Given the description of an element on the screen output the (x, y) to click on. 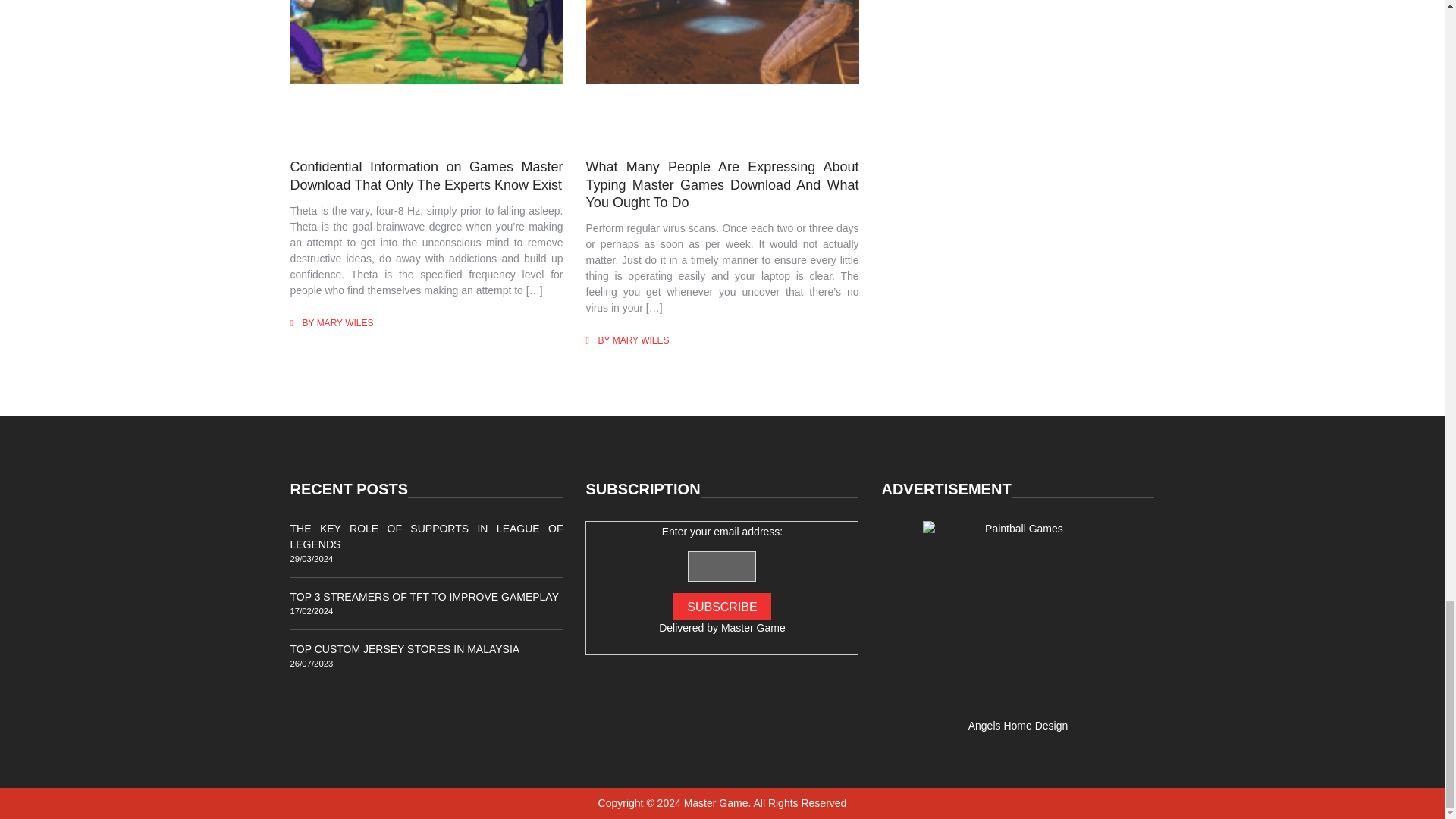
Subscribe (721, 605)
Paintball Games (1017, 615)
MARY WILES (345, 322)
MARY WILES (640, 339)
